Given the description of an element on the screen output the (x, y) to click on. 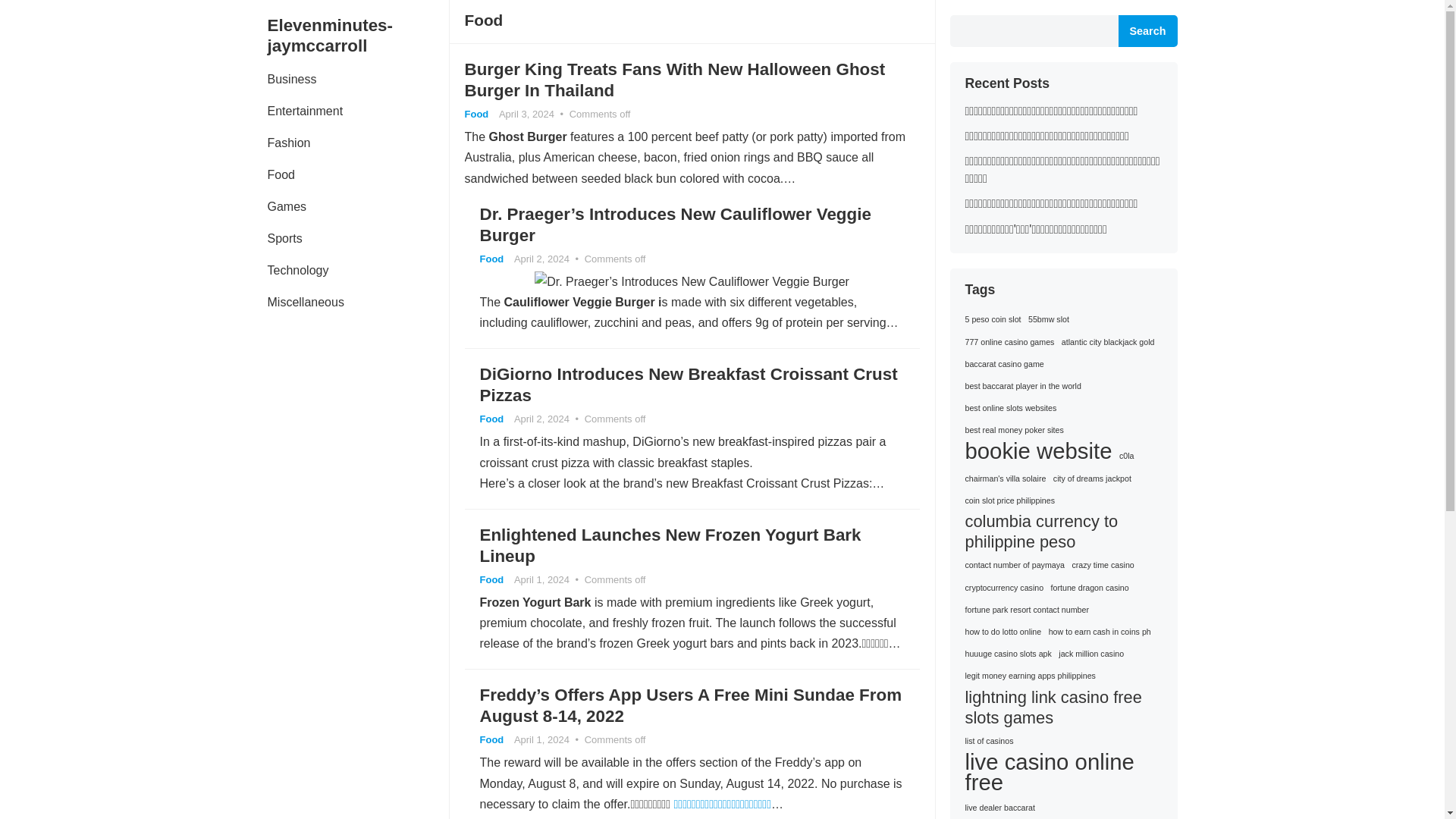
Food (475, 113)
Enlightened Launches New Frozen Yogurt Bark Lineup (669, 545)
Entertainment (304, 111)
Fashion (287, 142)
Business (291, 79)
Food (491, 258)
Technology (297, 270)
Games (286, 206)
Food (491, 419)
Food (279, 174)
DiGiorno Introduces New Breakfast Croissant Crust Pizzas (687, 384)
Food (491, 739)
Miscellaneous (304, 302)
Elevenminutes-jaymccarroll (357, 35)
Food (491, 579)
